Given the description of an element on the screen output the (x, y) to click on. 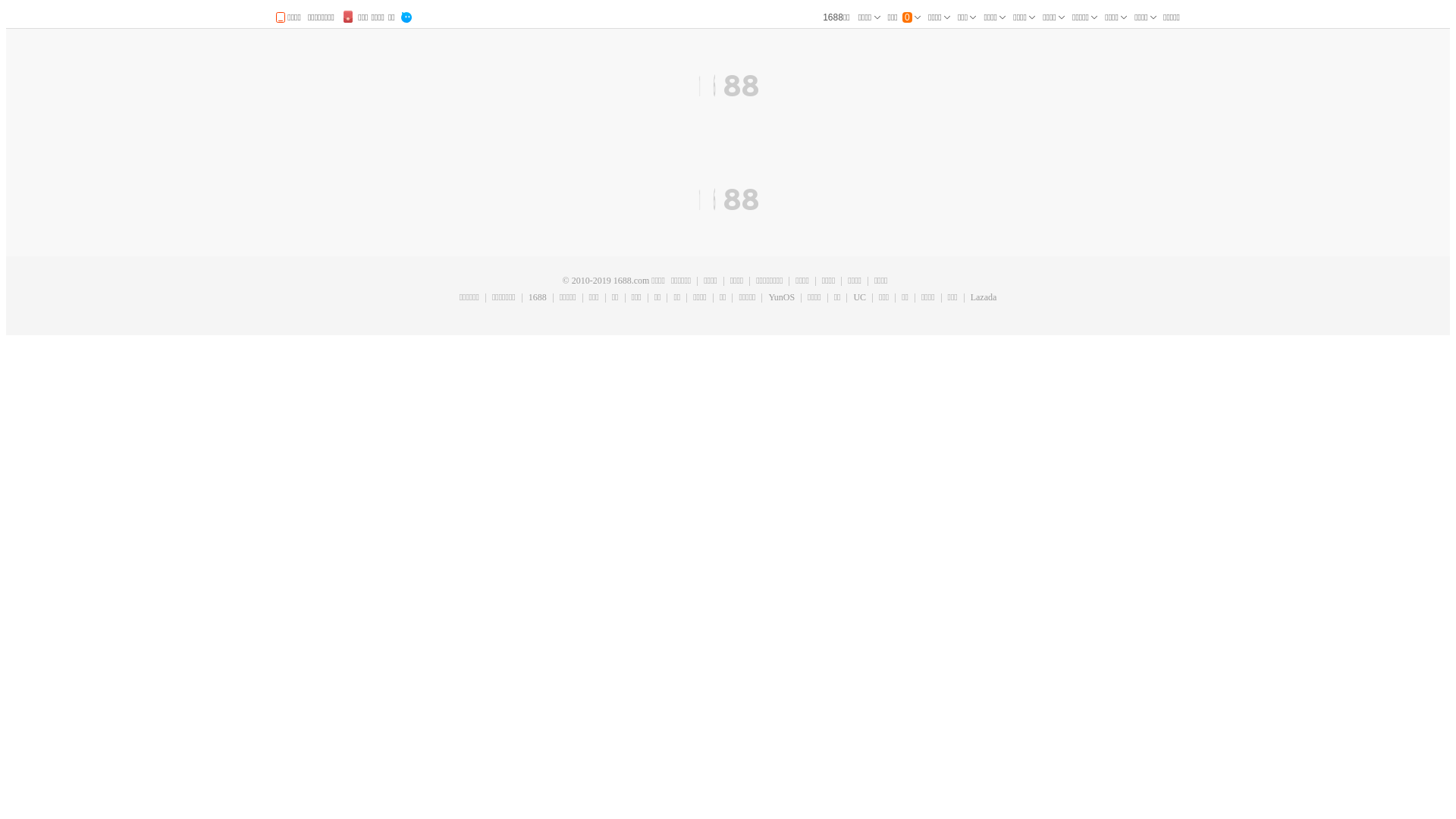
YunOS Element type: text (780, 297)
1688 Element type: text (536, 297)
UC Element type: text (859, 297)
Lazada Element type: text (983, 297)
